Given the description of an element on the screen output the (x, y) to click on. 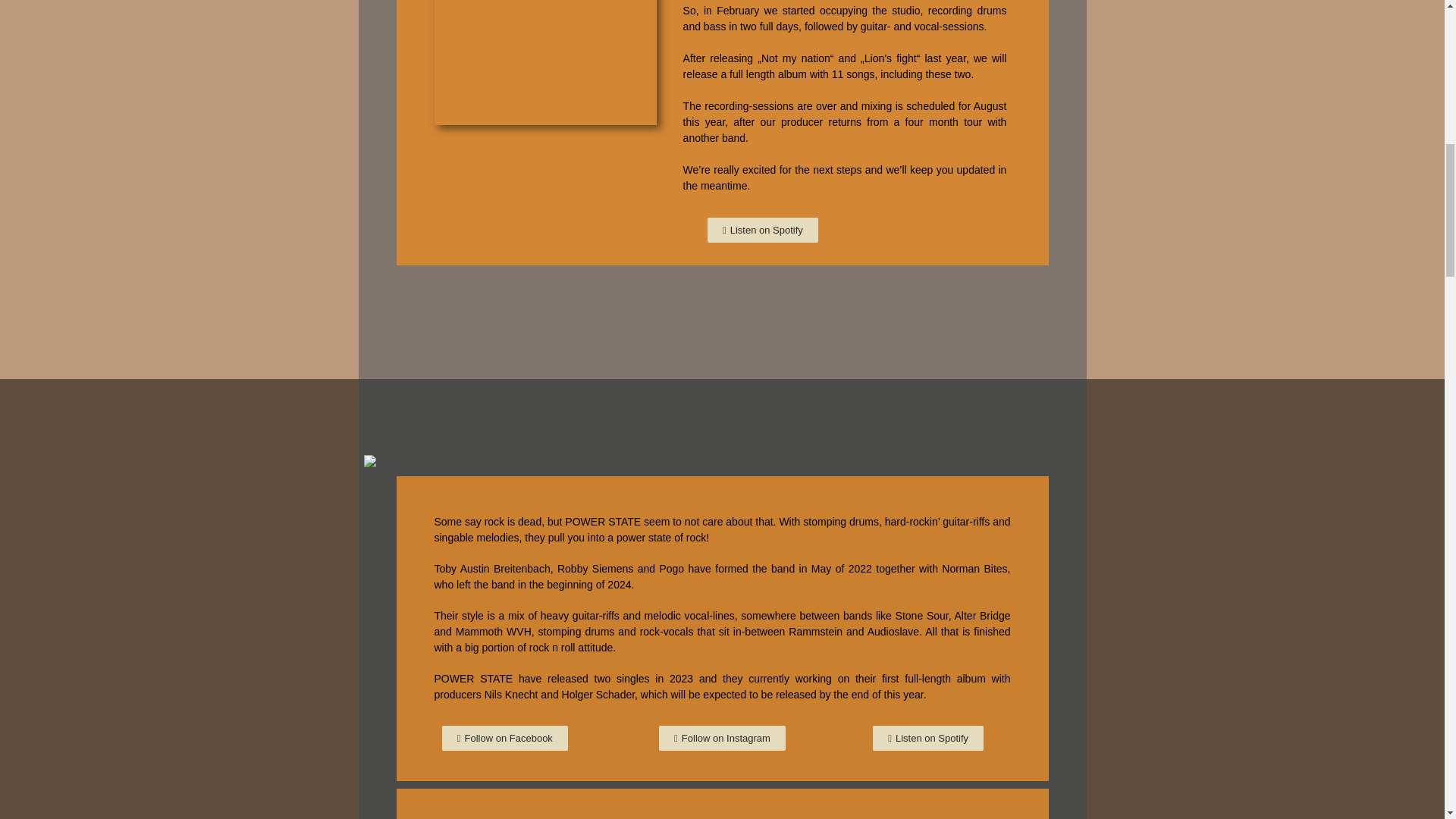
Listen on Spotify (928, 738)
Follow on Facebook (504, 738)
Listen on Spotify (762, 229)
Follow on Instagram (722, 738)
